Given the description of an element on the screen output the (x, y) to click on. 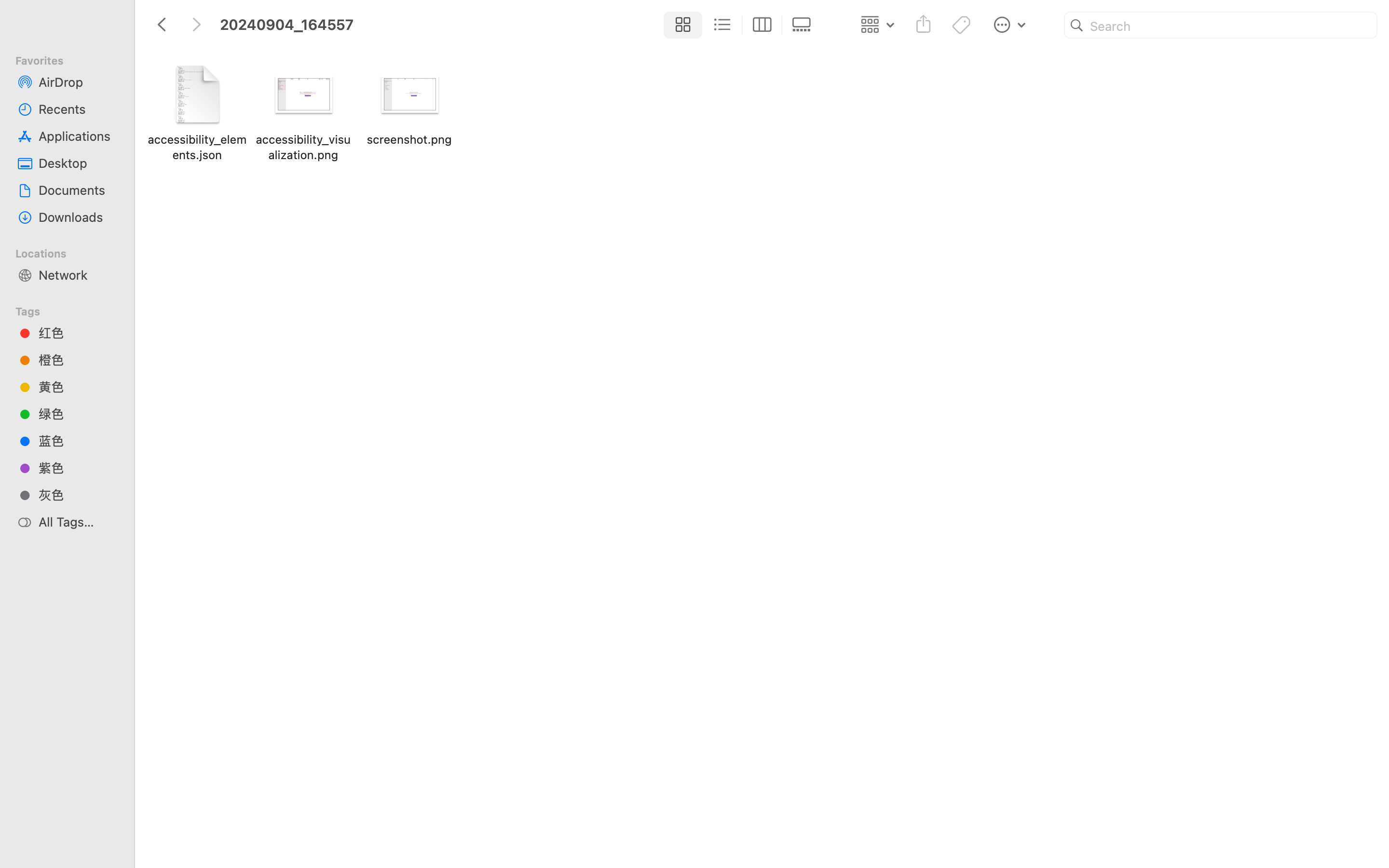
橙色 Element type: AXStaticText (77, 359)
1 Element type: AXRadioButton (680, 24)
<AXUIElement 0x11dd241c0> {pid=510} Element type: AXRadioGroup (741, 24)
Applications Element type: AXStaticText (77, 135)
AirDrop Element type: AXStaticText (77, 81)
